Given the description of an element on the screen output the (x, y) to click on. 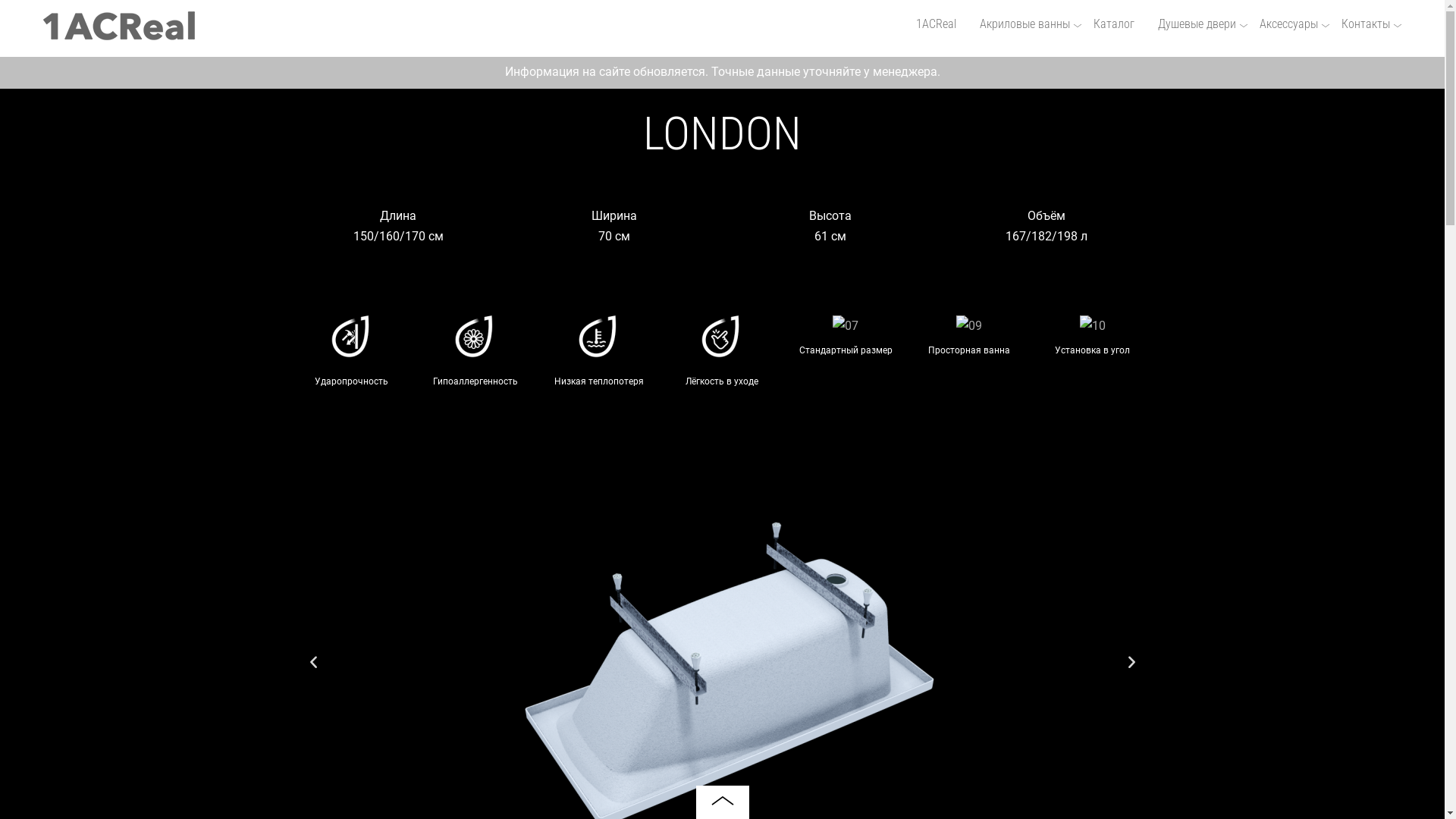
1Acreal Element type: hover (118, 33)
LONDON Element type: text (722, 133)
07 Element type: hover (845, 325)
05 Element type: hover (598, 340)
09 Element type: hover (969, 325)
1Acreal Element type: hover (118, 25)
06 Element type: hover (721, 340)
02 Element type: hover (475, 340)
10 Element type: hover (1092, 325)
1ACReal Element type: text (935, 24)
01 Element type: hover (351, 340)
